Given the description of an element on the screen output the (x, y) to click on. 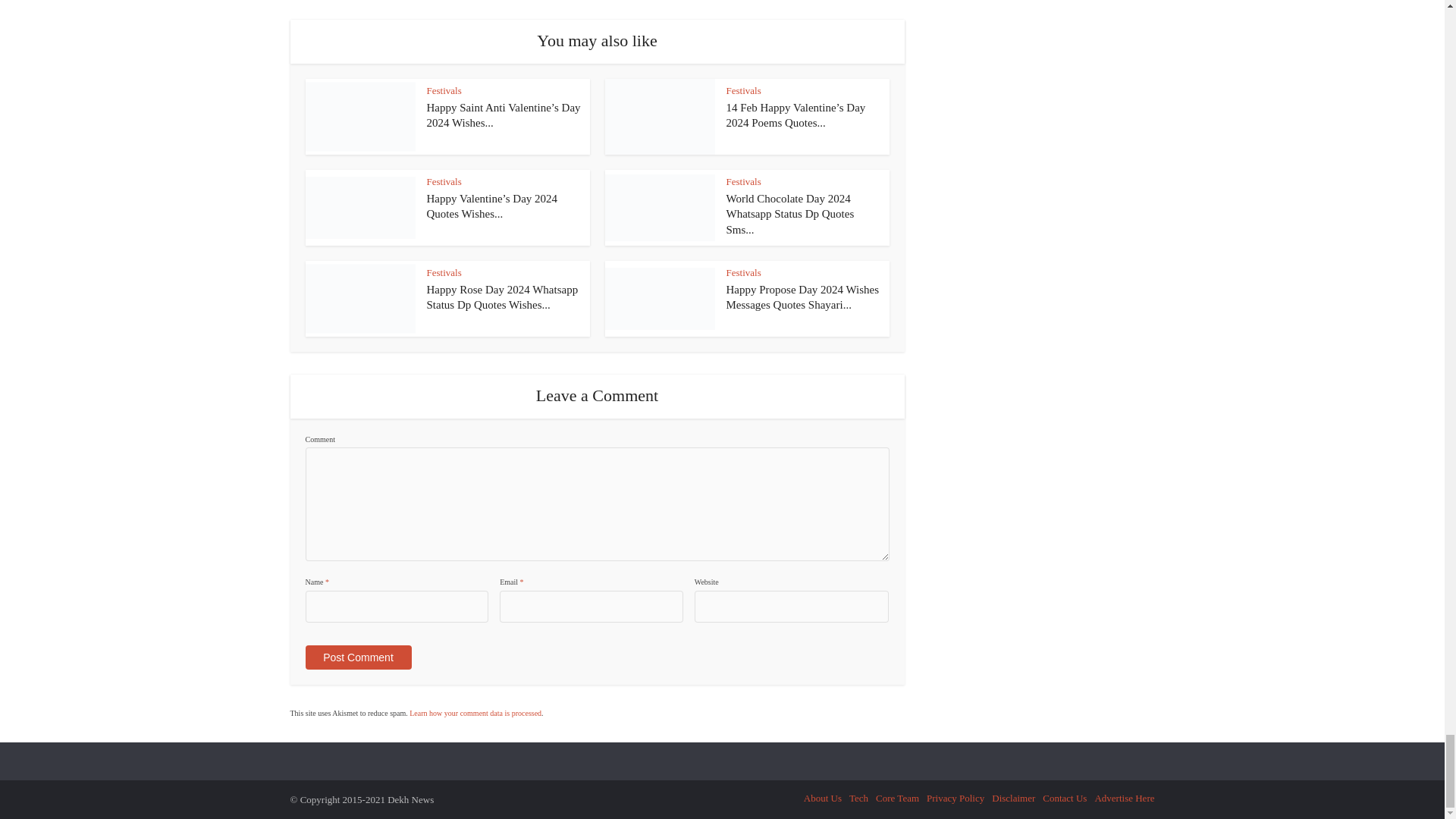
Post Comment (357, 657)
